Given the description of an element on the screen output the (x, y) to click on. 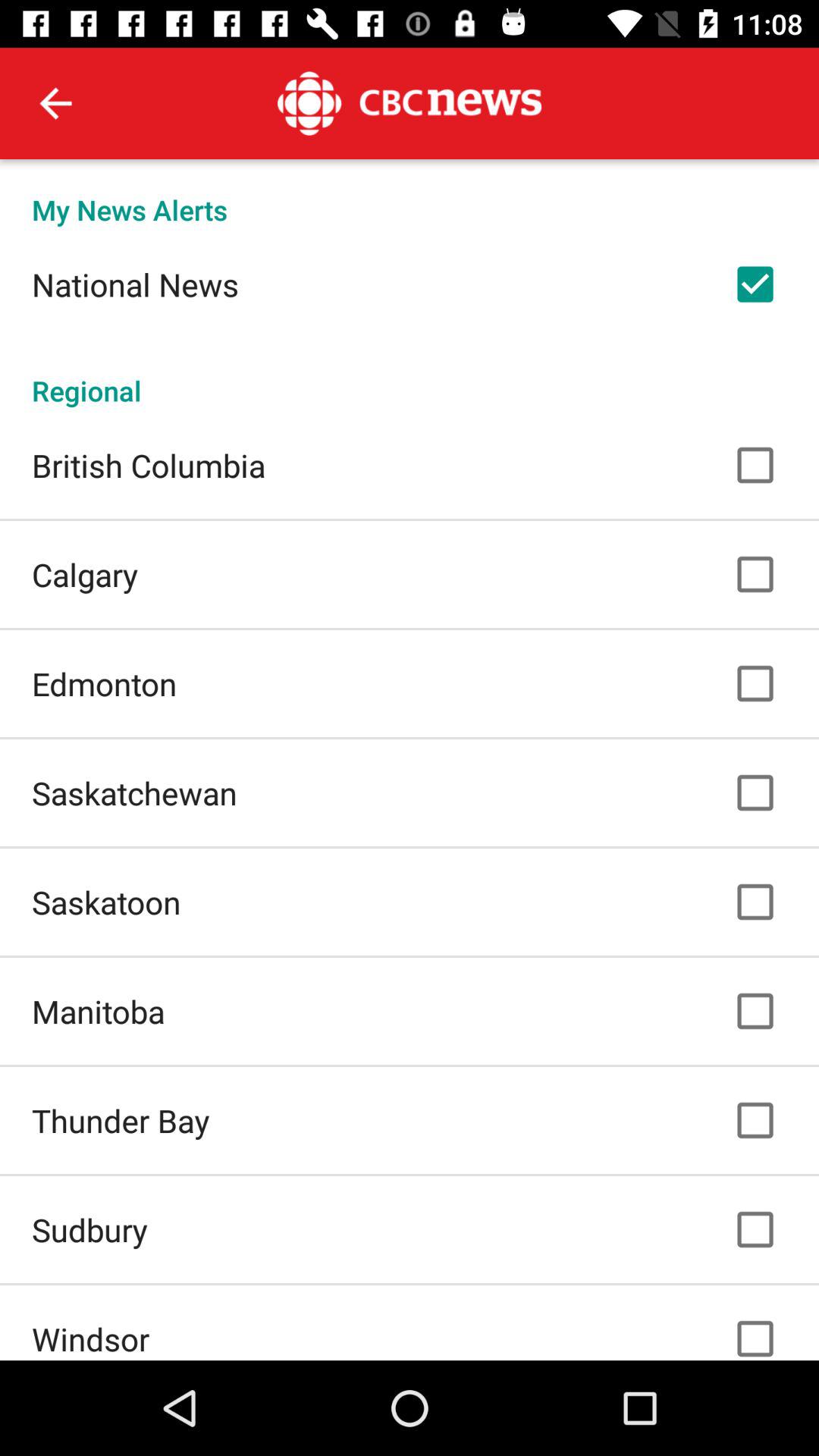
choose the icon above the my news alerts icon (55, 103)
